Given the description of an element on the screen output the (x, y) to click on. 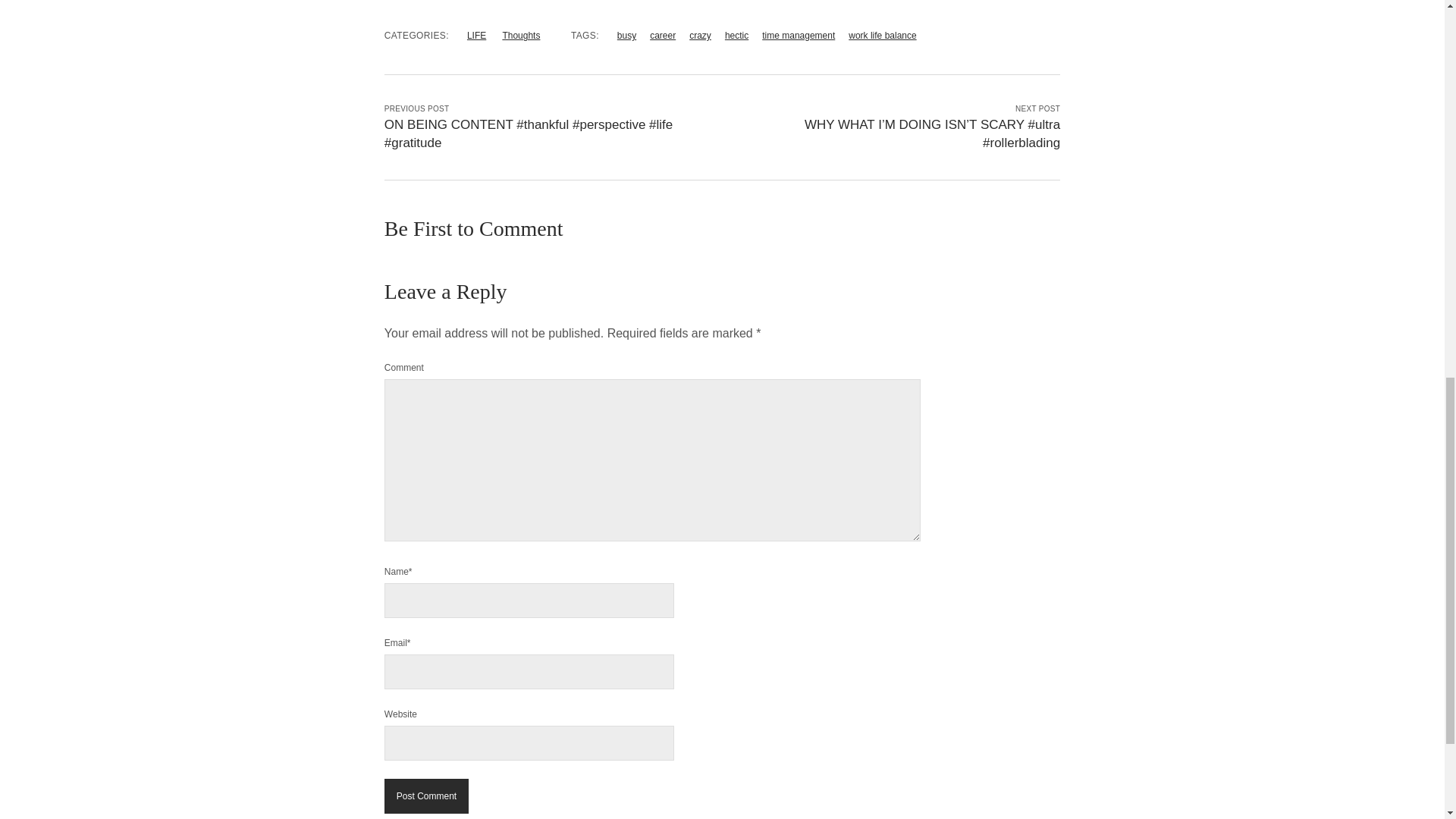
career (662, 35)
Post Comment (426, 796)
busy (626, 35)
View all posts tagged time management (797, 35)
LIFE (476, 35)
work life balance (881, 35)
crazy (699, 35)
View all posts in Thoughts (521, 35)
Post Comment (426, 796)
View all posts tagged busy (626, 35)
